Given the description of an element on the screen output the (x, y) to click on. 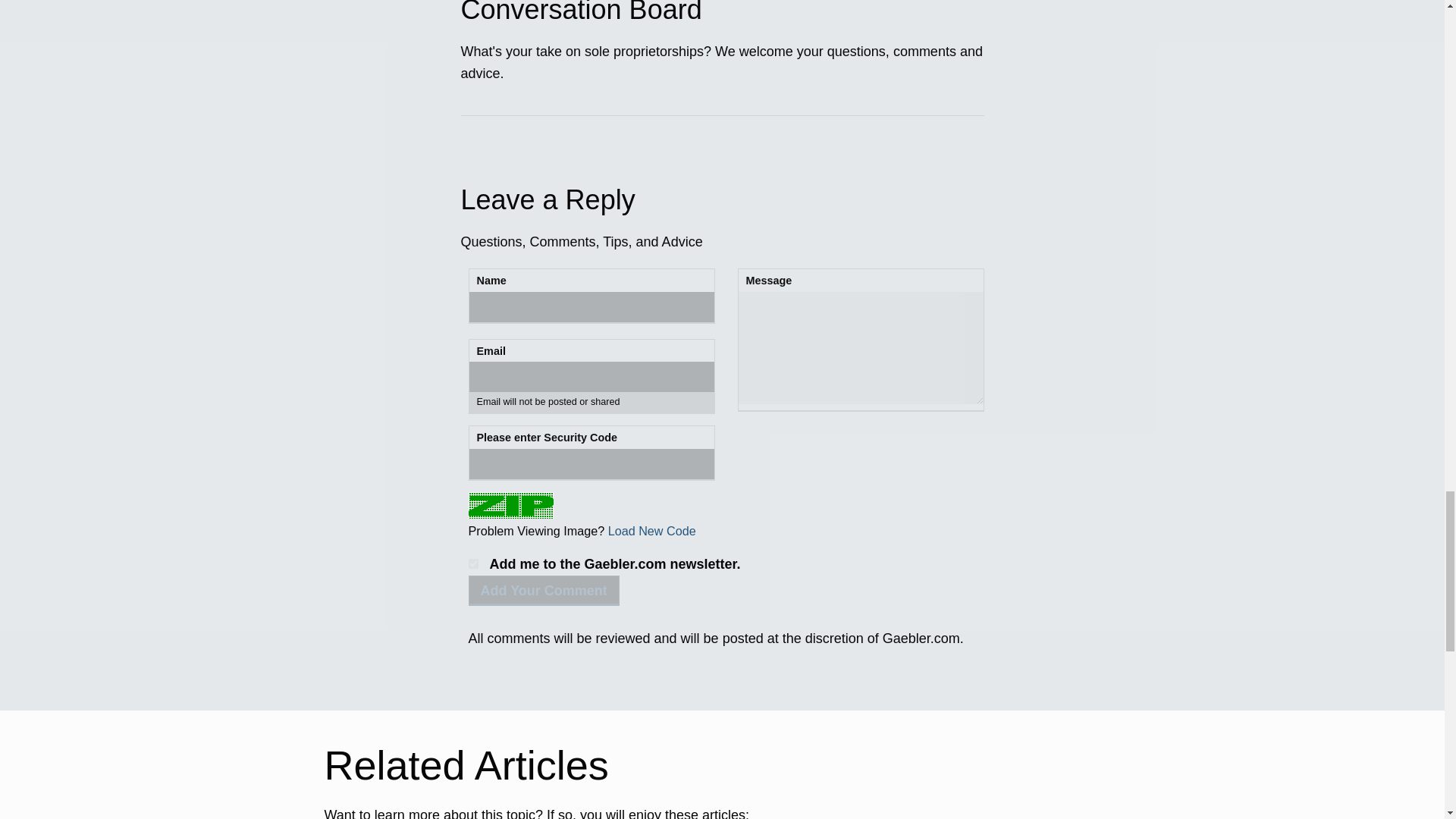
Add Your Comment (544, 590)
on (473, 563)
